Given the description of an element on the screen output the (x, y) to click on. 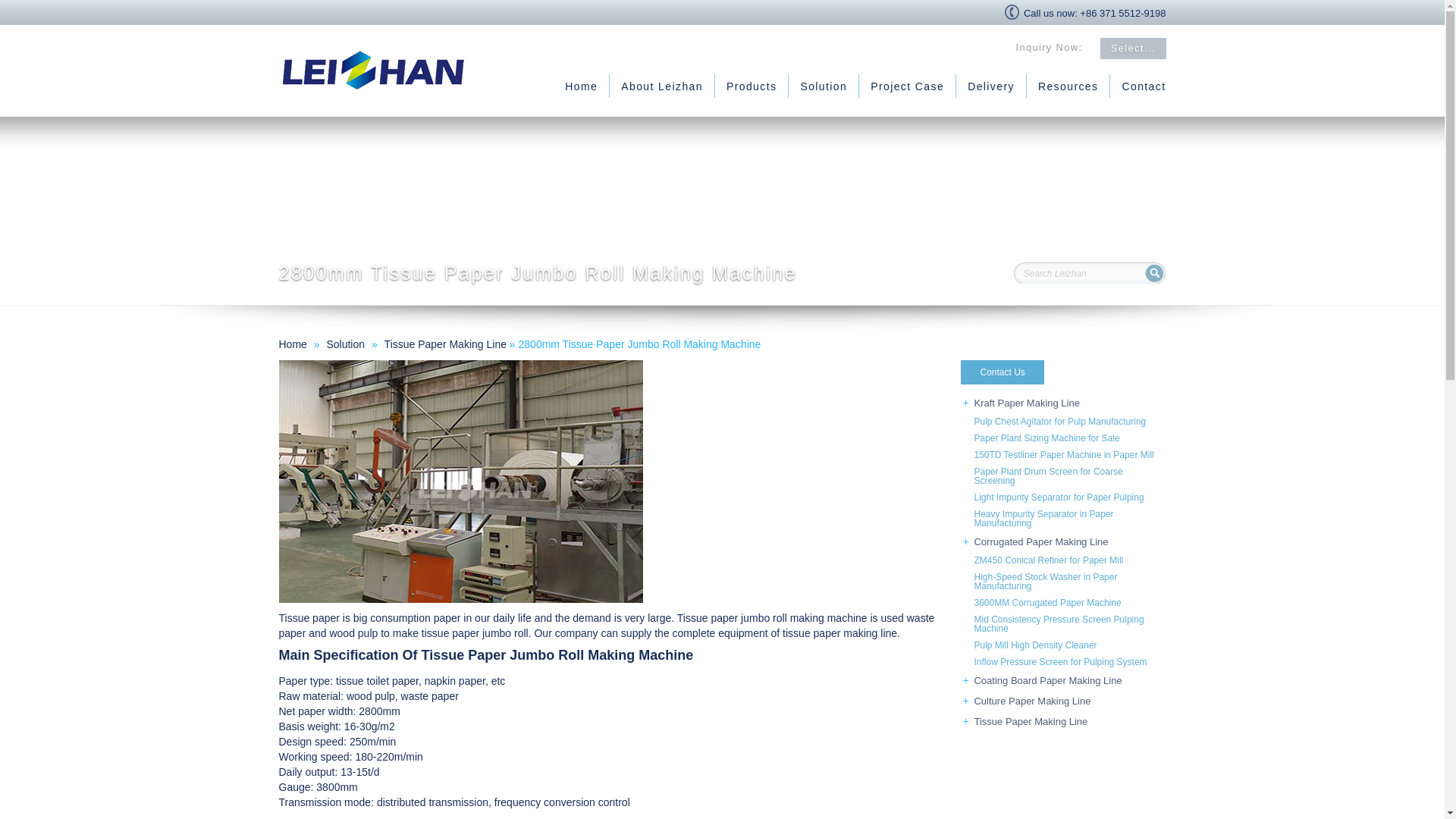
About Leizhan (662, 85)
Home (580, 85)
Zhengzhou Leizhan Paper Machinery Co., Ltd. (580, 85)
Products (750, 85)
